Given the description of an element on the screen output the (x, y) to click on. 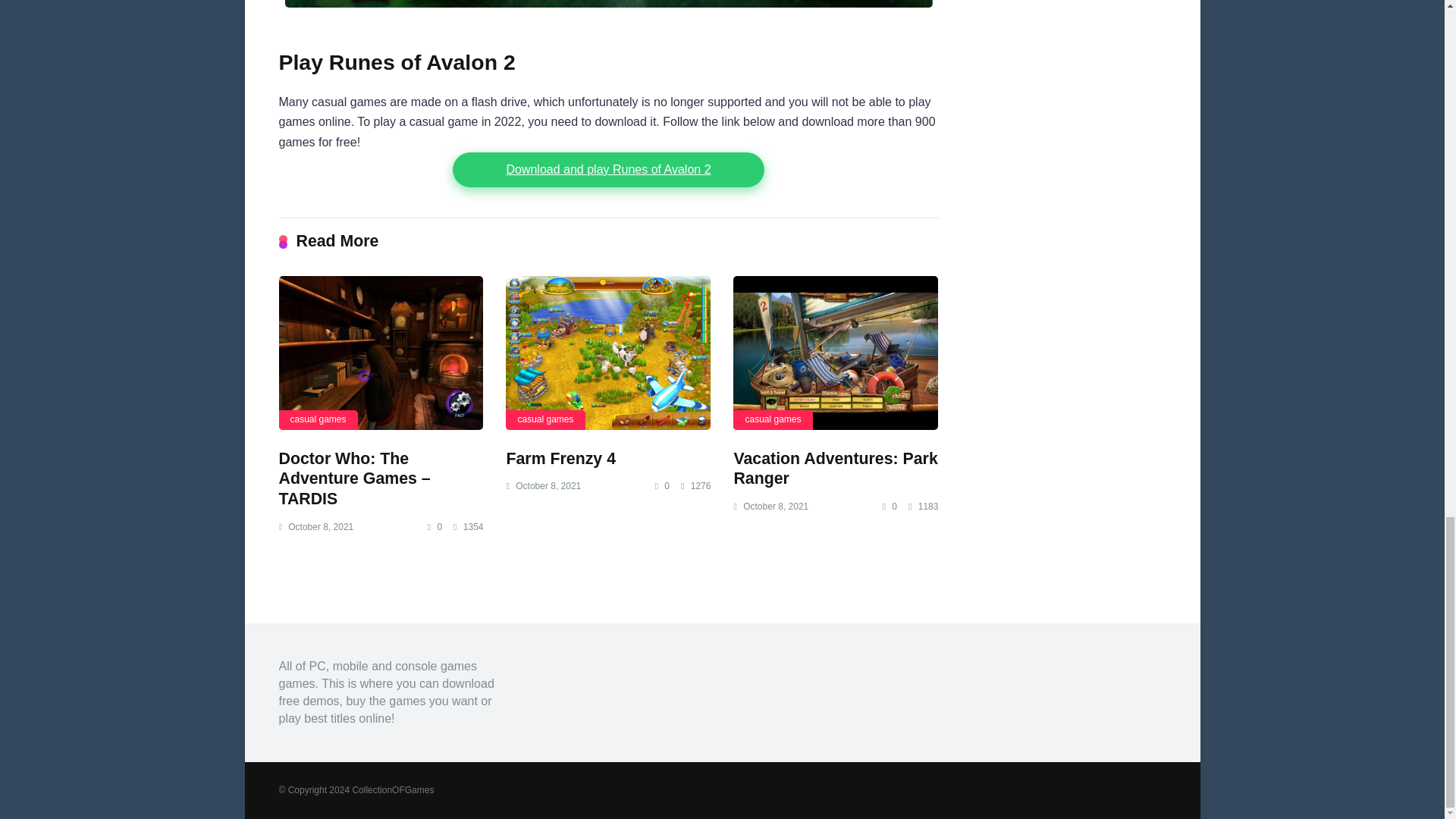
Download and play Runes of Avalon 2 (607, 169)
Vacation Adventures: Park Ranger (835, 468)
Farm Frenzy 4 (560, 458)
casual games (318, 419)
Farm Frenzy 4 (607, 352)
Download and play Runes of Avalon 2 (607, 169)
casual games (772, 419)
casual games (545, 419)
Farm Frenzy 4 (560, 458)
Vacation Adventures: Park Ranger (835, 352)
